Given the description of an element on the screen output the (x, y) to click on. 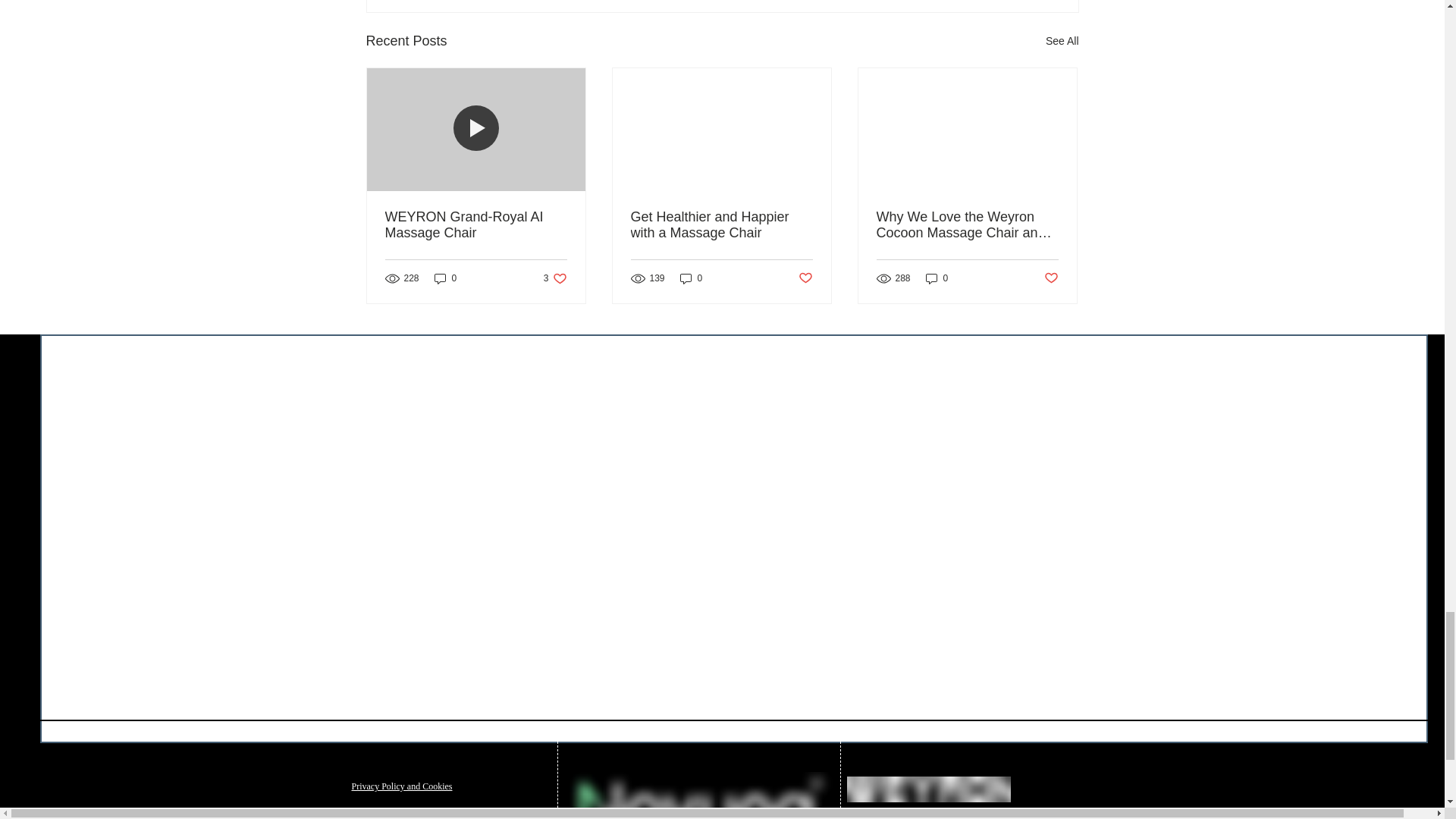
0 (691, 278)
See All (555, 278)
0 (1061, 41)
Post not marked as liked (445, 278)
Get Healthier and Happier with a Massage Chair (804, 278)
WEYRON Grand-Royal AI Massage Chair (721, 224)
